Given the description of an element on the screen output the (x, y) to click on. 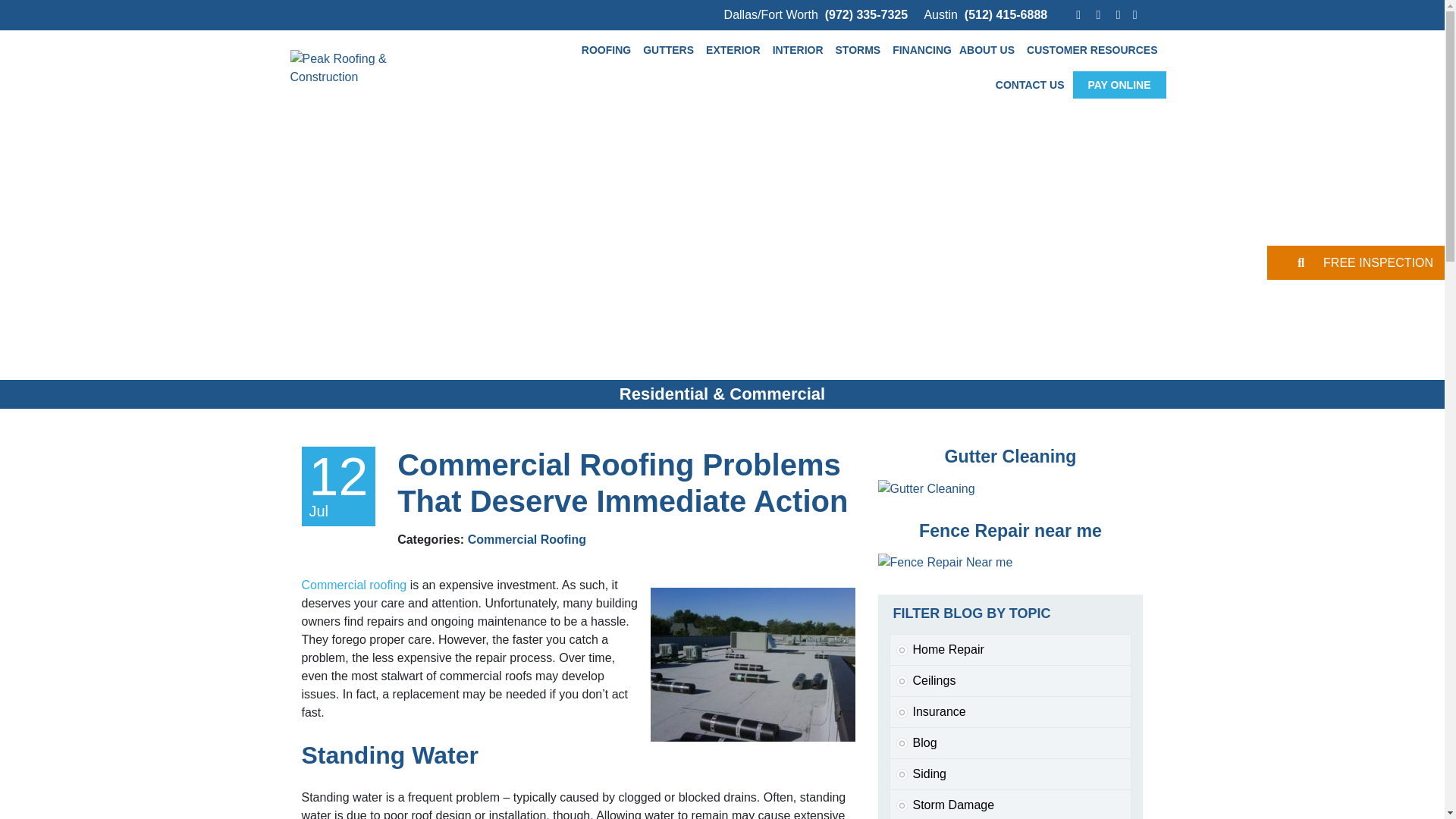
ROOFING (608, 49)
EXTERIOR (734, 49)
Gutter Cleaning (926, 488)
GUTTERS (670, 49)
commercial roofing  (753, 665)
